Given the description of an element on the screen output the (x, y) to click on. 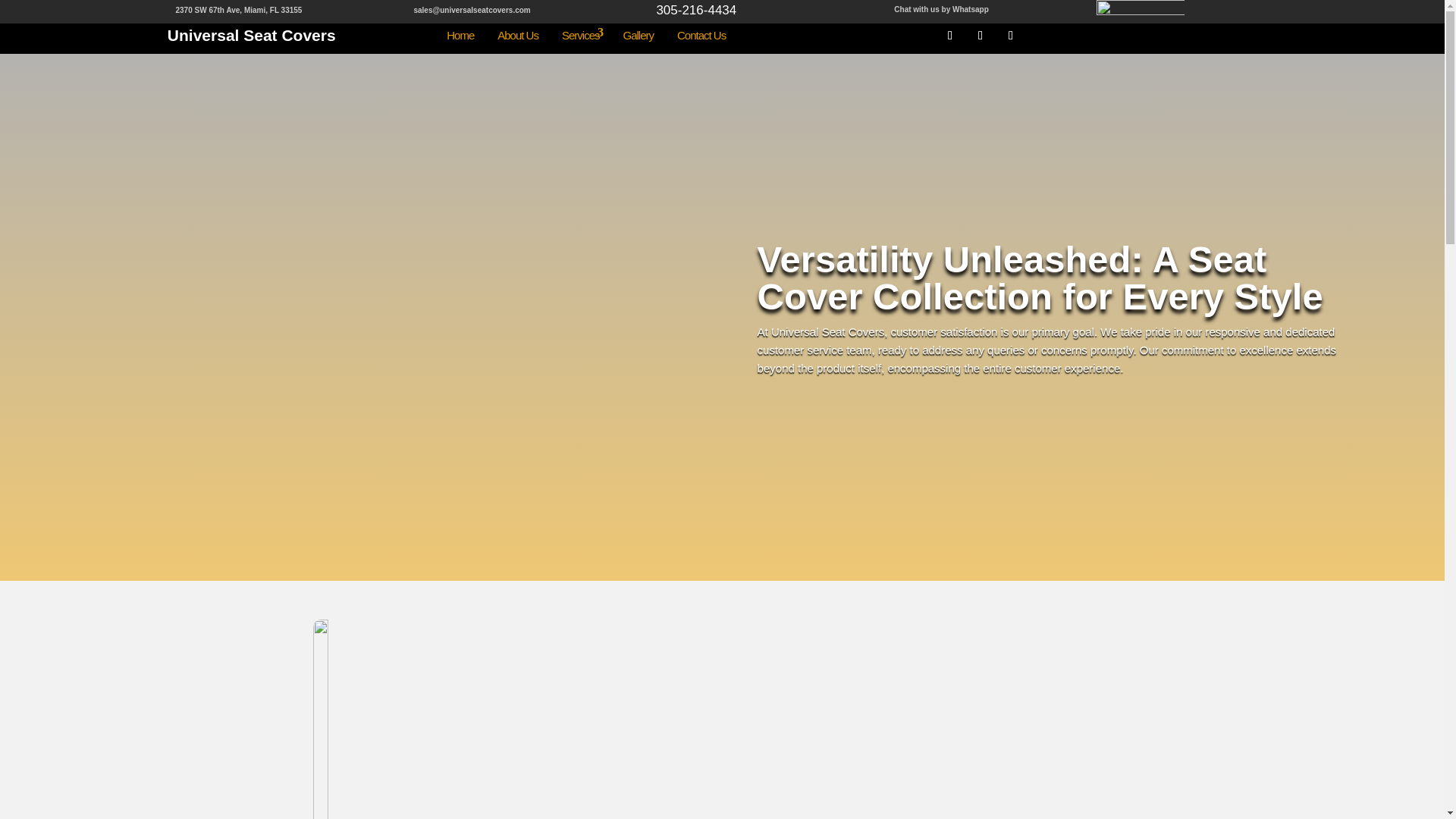
Gallery (639, 35)
305-216-4434 (696, 10)
Follow on Instagram (980, 35)
review (1139, 13)
usc04 (517, 719)
Follow on Facebook (949, 35)
Home (460, 35)
Contact Us (700, 35)
Follow on google-plus (1010, 35)
Services (579, 35)
